Given the description of an element on the screen output the (x, y) to click on. 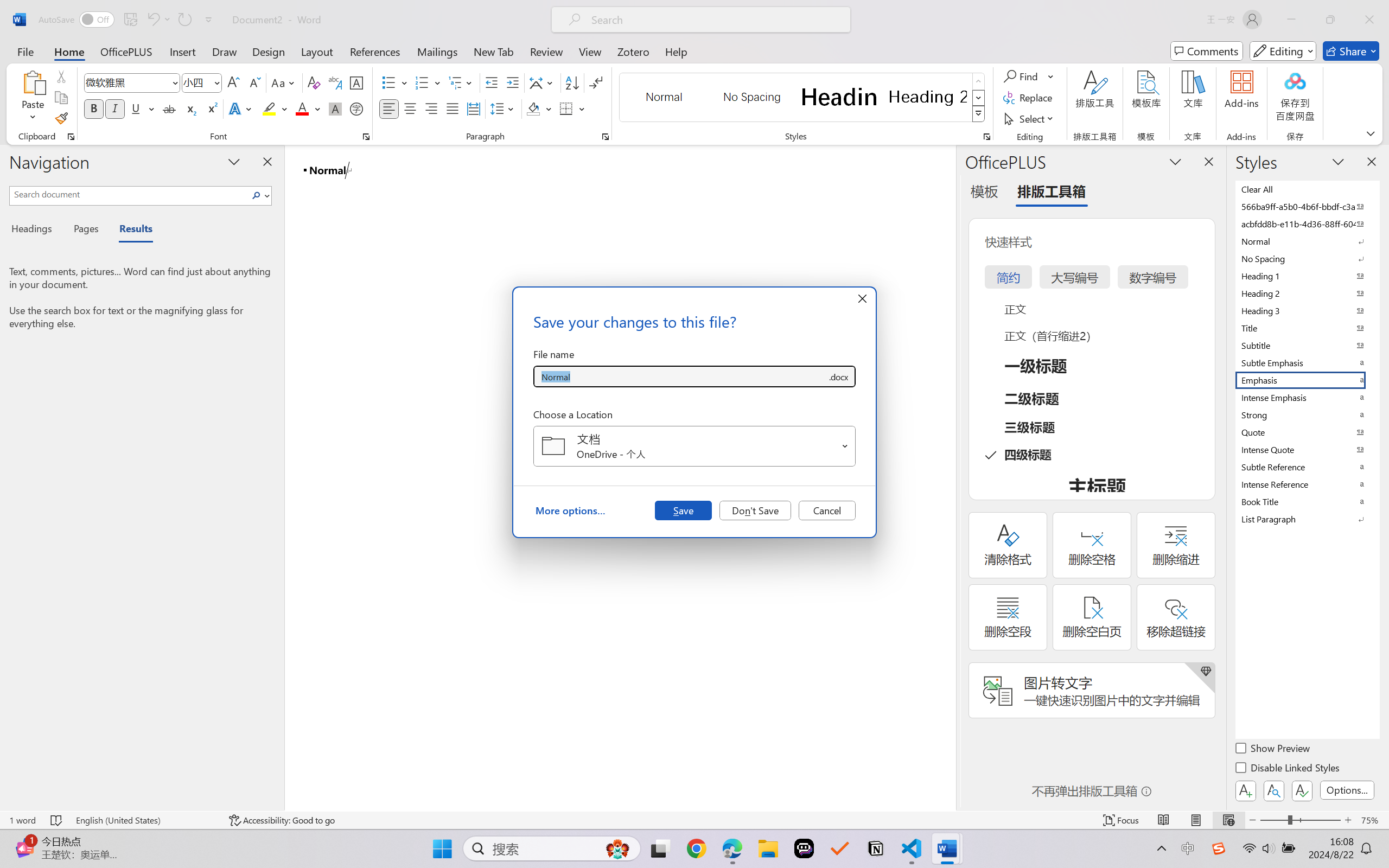
acbfdd8b-e11b-4d36-88ff-6049b138f862 (1306, 223)
Select (1030, 118)
Restore Down (1330, 19)
Zoom In (1348, 819)
References (375, 51)
Microsoft search (715, 19)
Web Layout (1228, 819)
Strikethrough (169, 108)
